Given the description of an element on the screen output the (x, y) to click on. 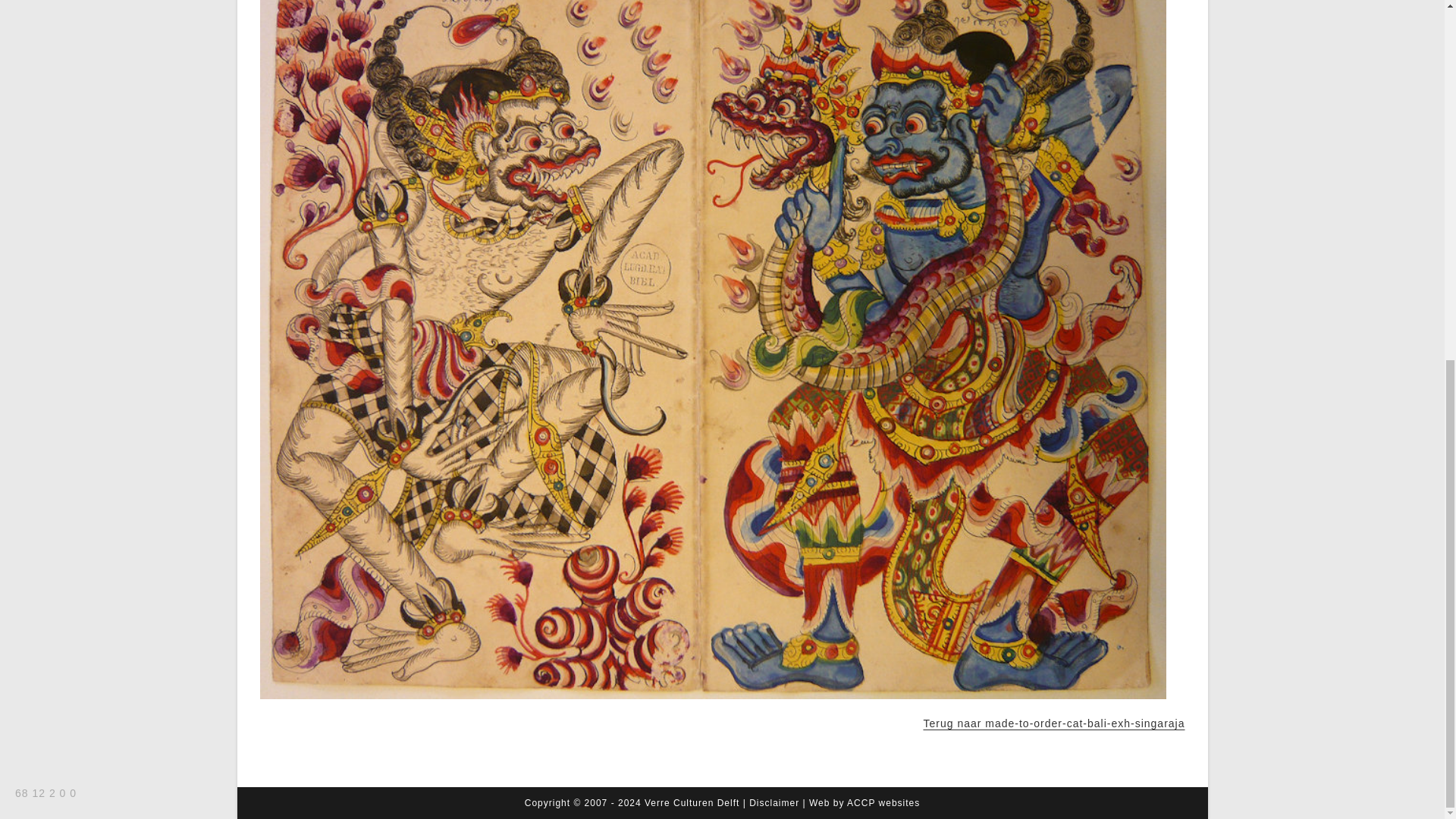
ACCP websites (883, 802)
Disclaimer (774, 802)
Terug naar made-to-order-cat-bali-exh-singaraja (1054, 723)
